Given the description of an element on the screen output the (x, y) to click on. 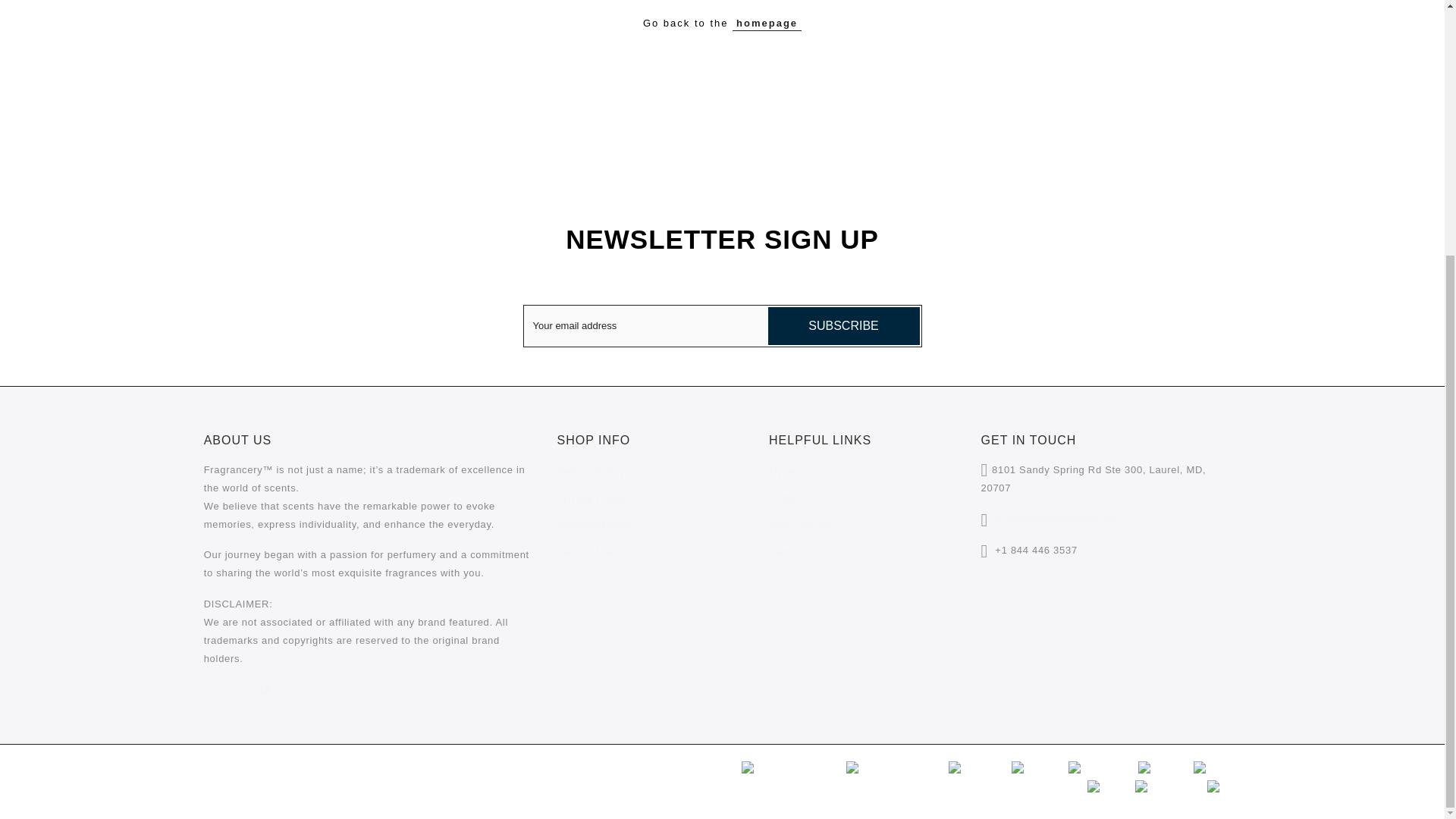
FAQs (781, 498)
Privacy Policy (591, 498)
homepage (767, 23)
Refund Policy (590, 471)
Terms of Service (598, 551)
Shipping Policy (594, 524)
My Account (796, 471)
SUBSCRIBE (842, 325)
Cart (778, 551)
